Given the description of an element on the screen output the (x, y) to click on. 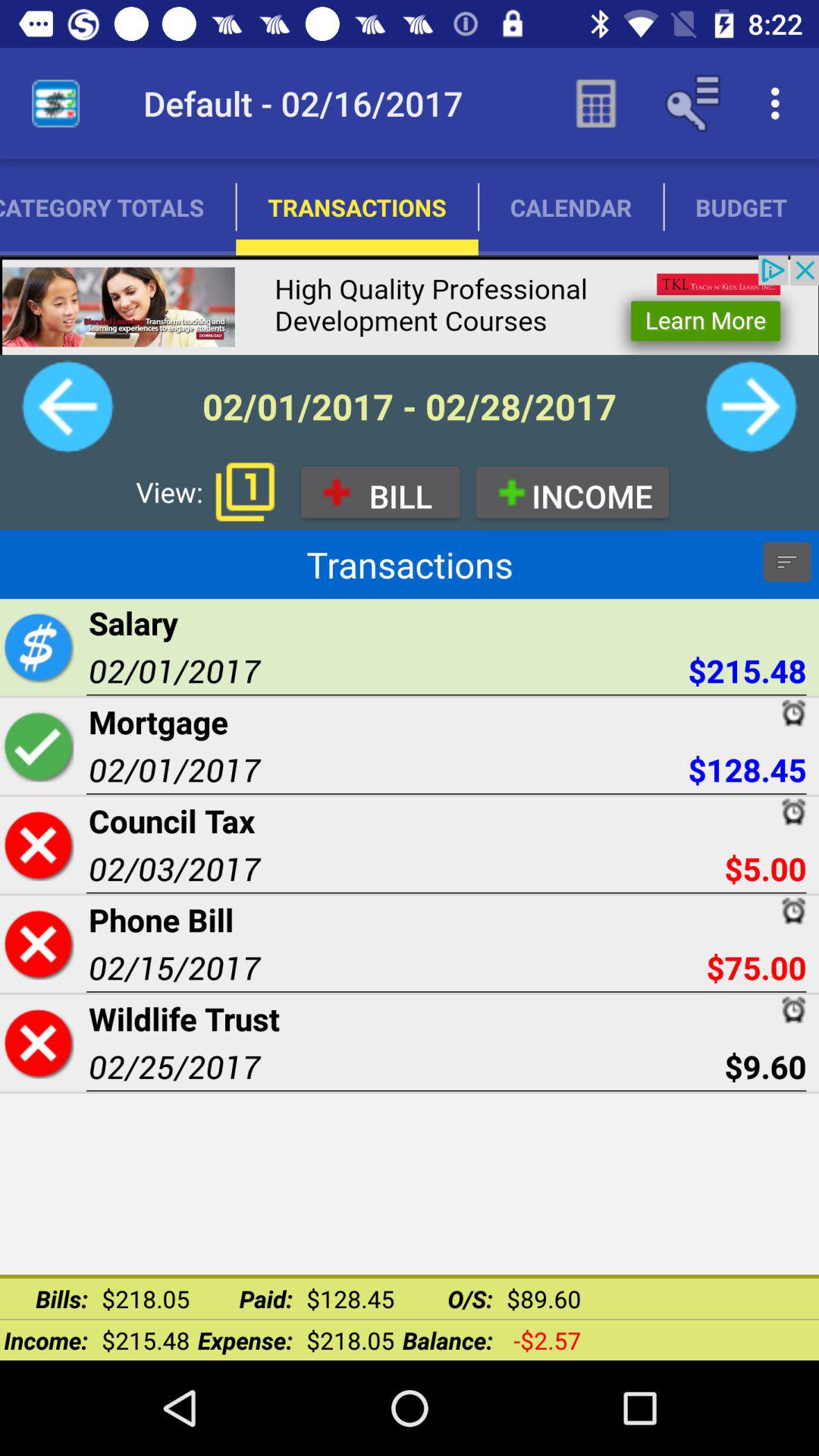
select transaction (37, 746)
